Given the description of an element on the screen output the (x, y) to click on. 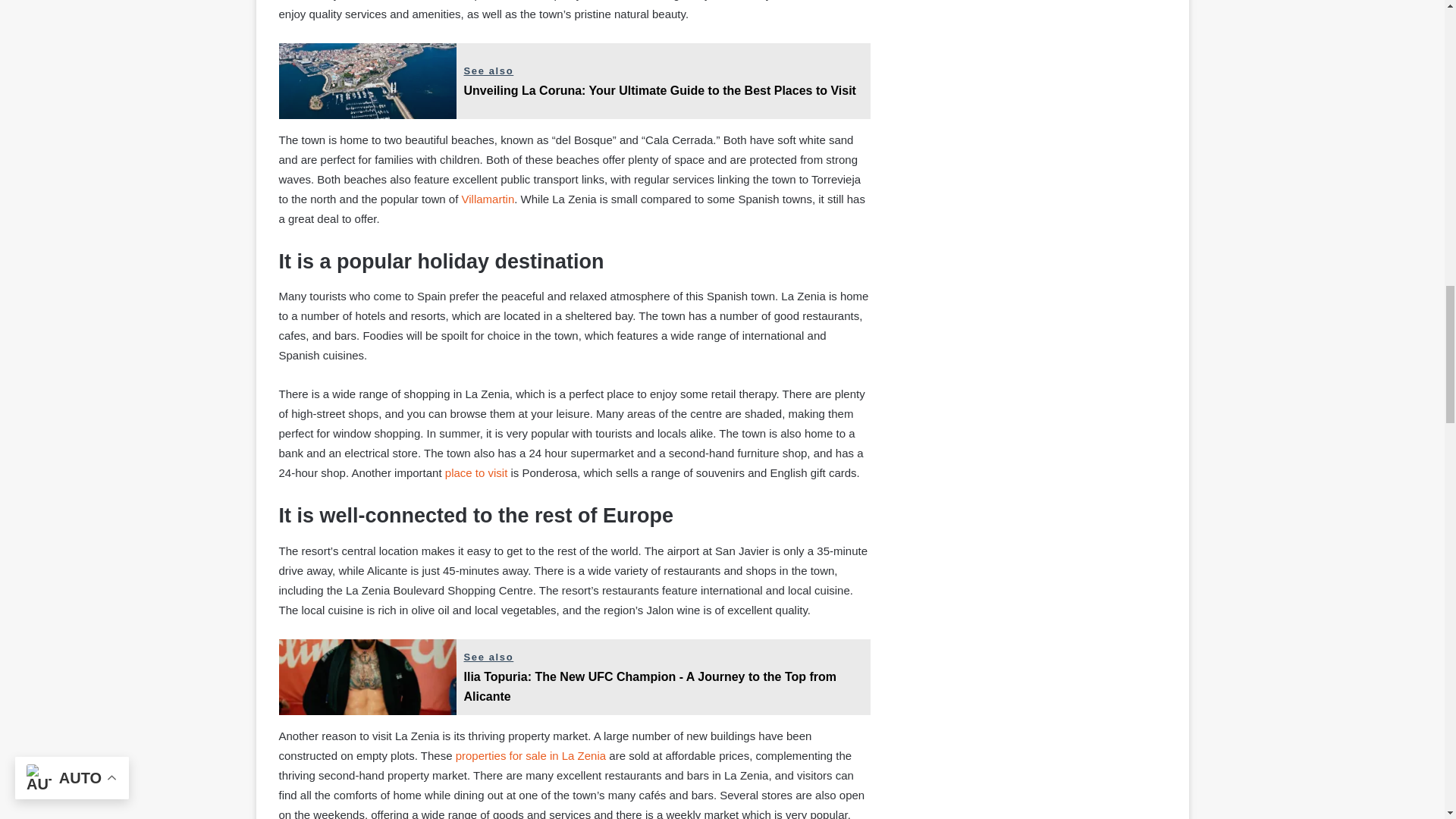
properties for sale in La Zenia (530, 755)
Villamartin (488, 198)
place to visit (476, 472)
What are some of the best places to visit in Barcelona? (476, 472)
